Given the description of an element on the screen output the (x, y) to click on. 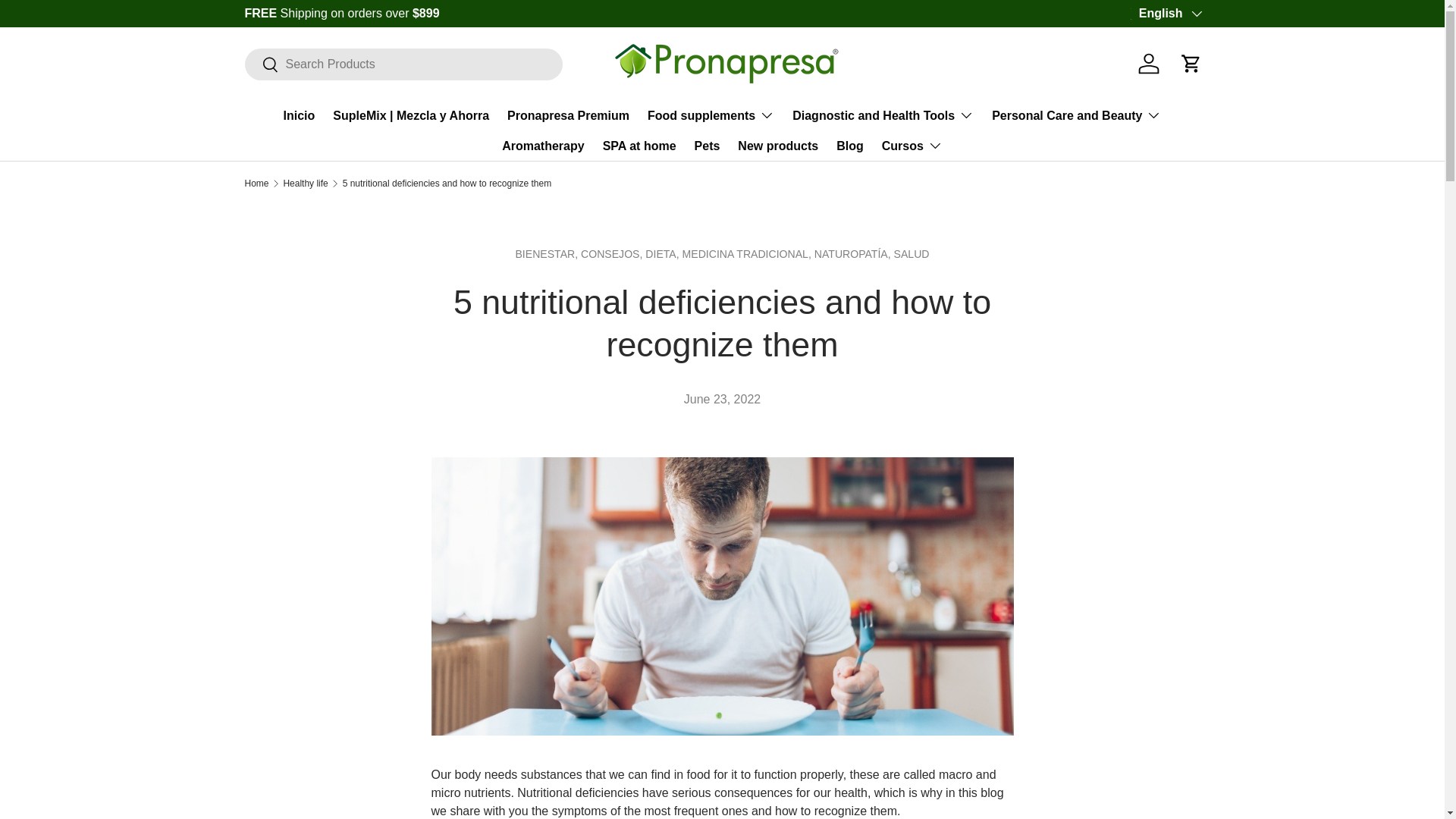
WhatsApp (1161, 12)
Pronapresa Premium (567, 115)
Inicio (299, 115)
WhatsApp Pronapresa Customer Service (1161, 12)
Diagnostic and Health Tools (883, 114)
Log in (1149, 63)
Food supplements (710, 114)
English (1168, 13)
Search (261, 64)
Skip to content (69, 21)
Cart (1191, 63)
